Given the description of an element on the screen output the (x, y) to click on. 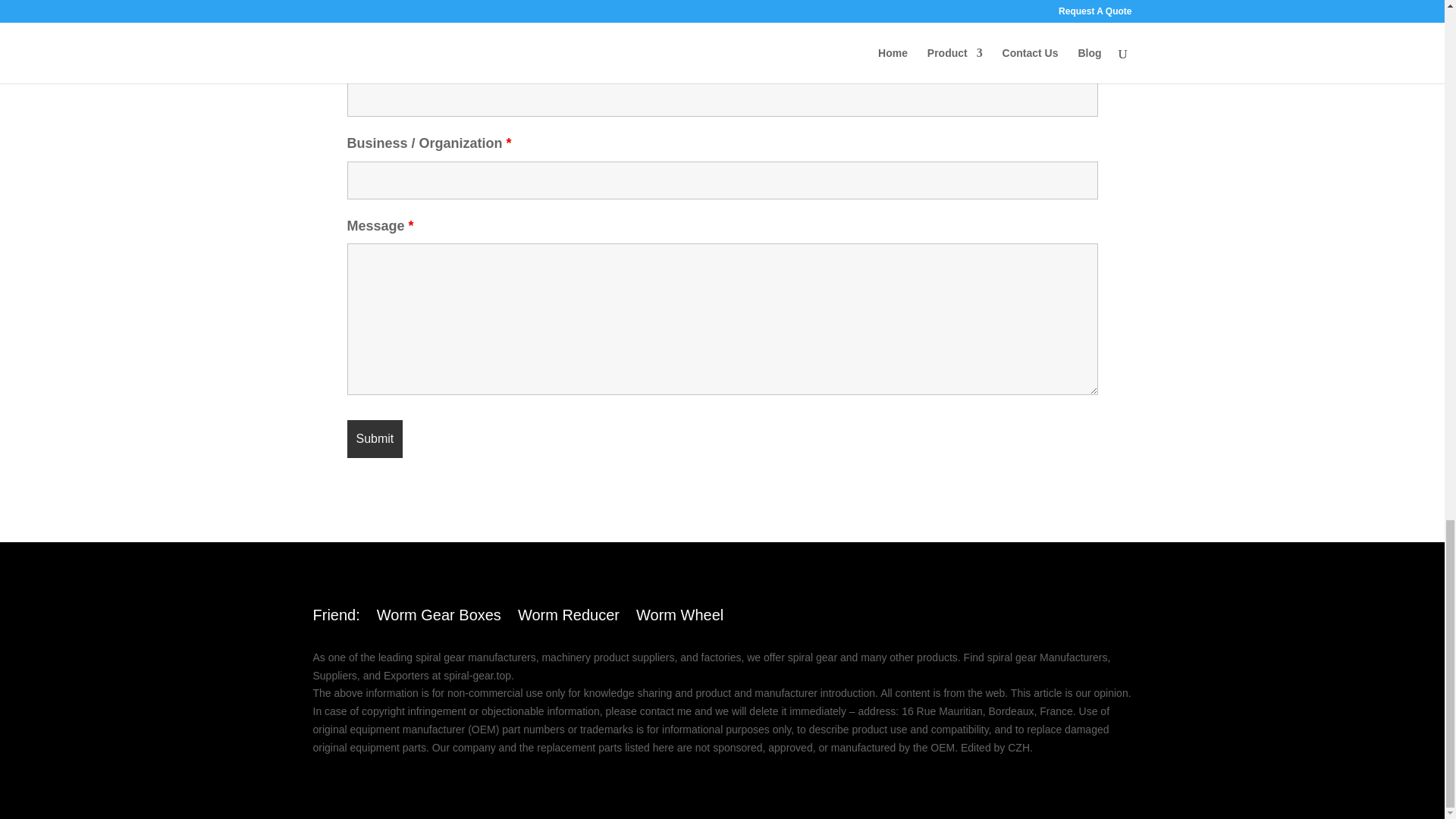
Submit (375, 438)
Friend: (336, 617)
Worm Wheel (679, 617)
Worm Reducer (569, 617)
Submit (375, 438)
Worm Gear Boxes (438, 617)
